Given the description of an element on the screen output the (x, y) to click on. 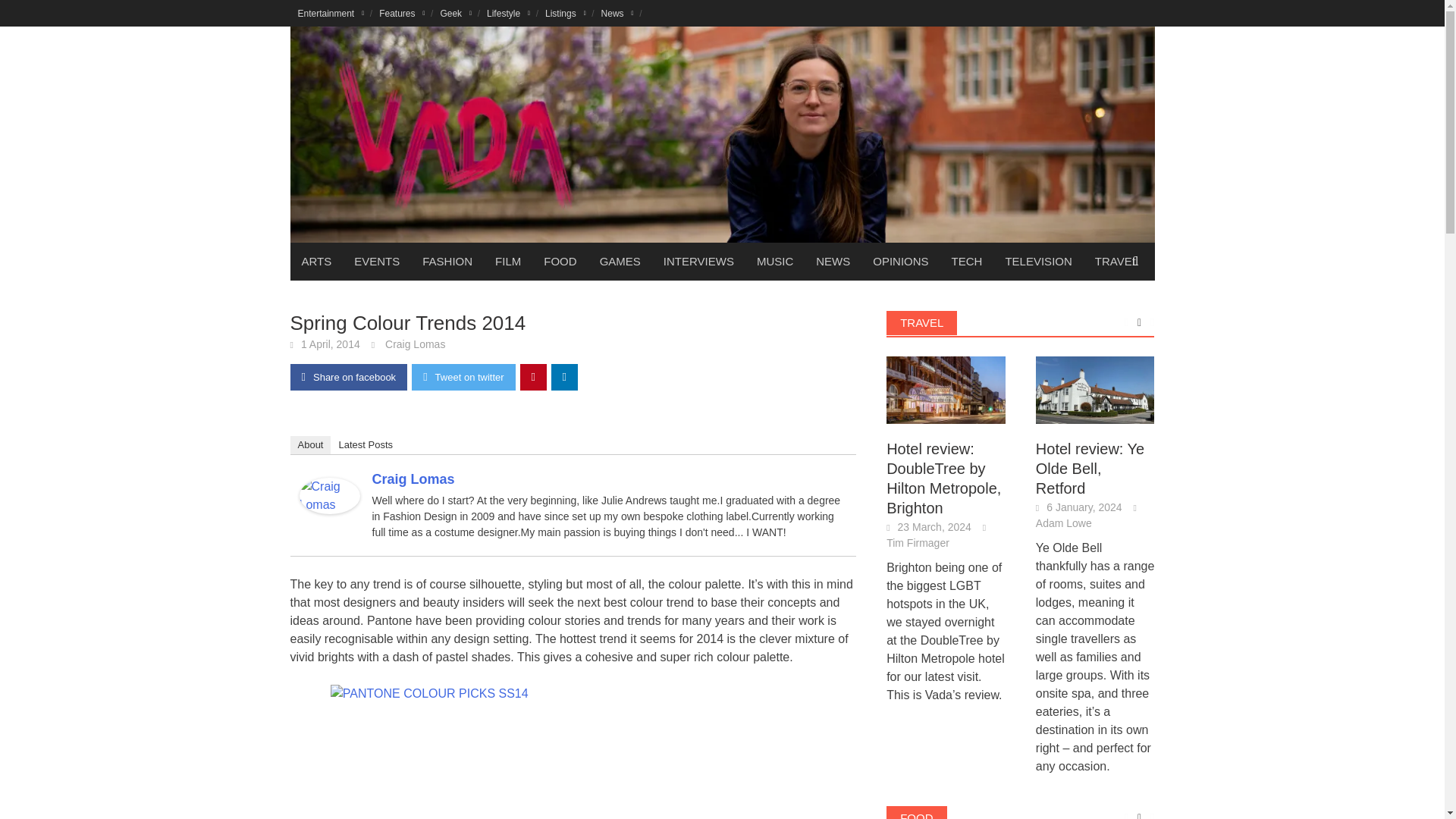
Hotel review: DoubleTree by Hilton Metropole, Brighton (946, 389)
Craig Lomas (328, 494)
Features (401, 13)
Listings (565, 13)
Entertainment (330, 13)
Hotel review: DoubleTree by Hilton Metropole, Brighton (946, 390)
Lifestyle (508, 13)
News (618, 13)
Hotel review: Ye Olde Bell, Retford (1094, 389)
Geek (455, 13)
